Given the description of an element on the screen output the (x, y) to click on. 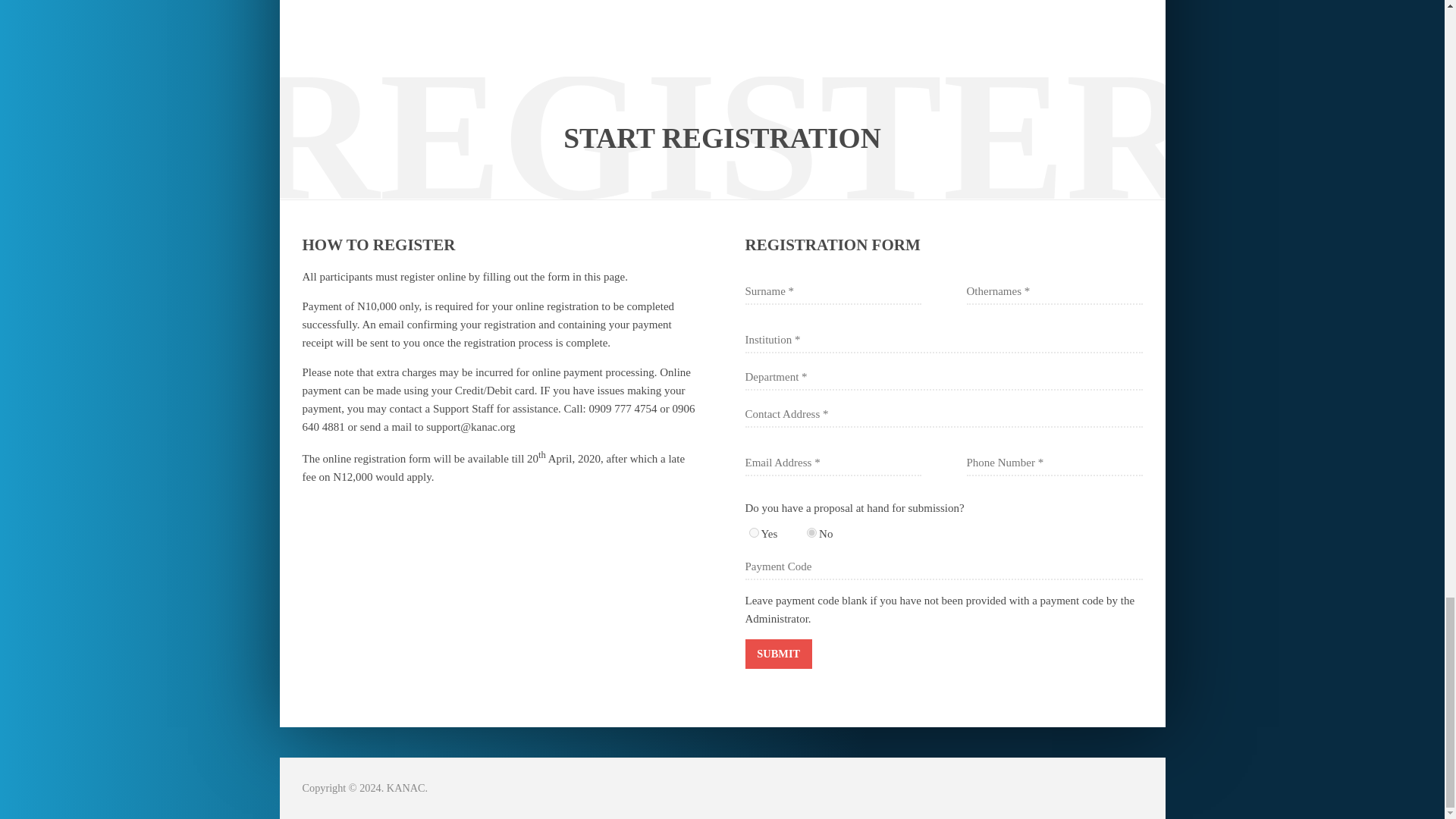
Submit (777, 654)
Submit (777, 654)
no (811, 532)
yes (753, 532)
